Given the description of an element on the screen output the (x, y) to click on. 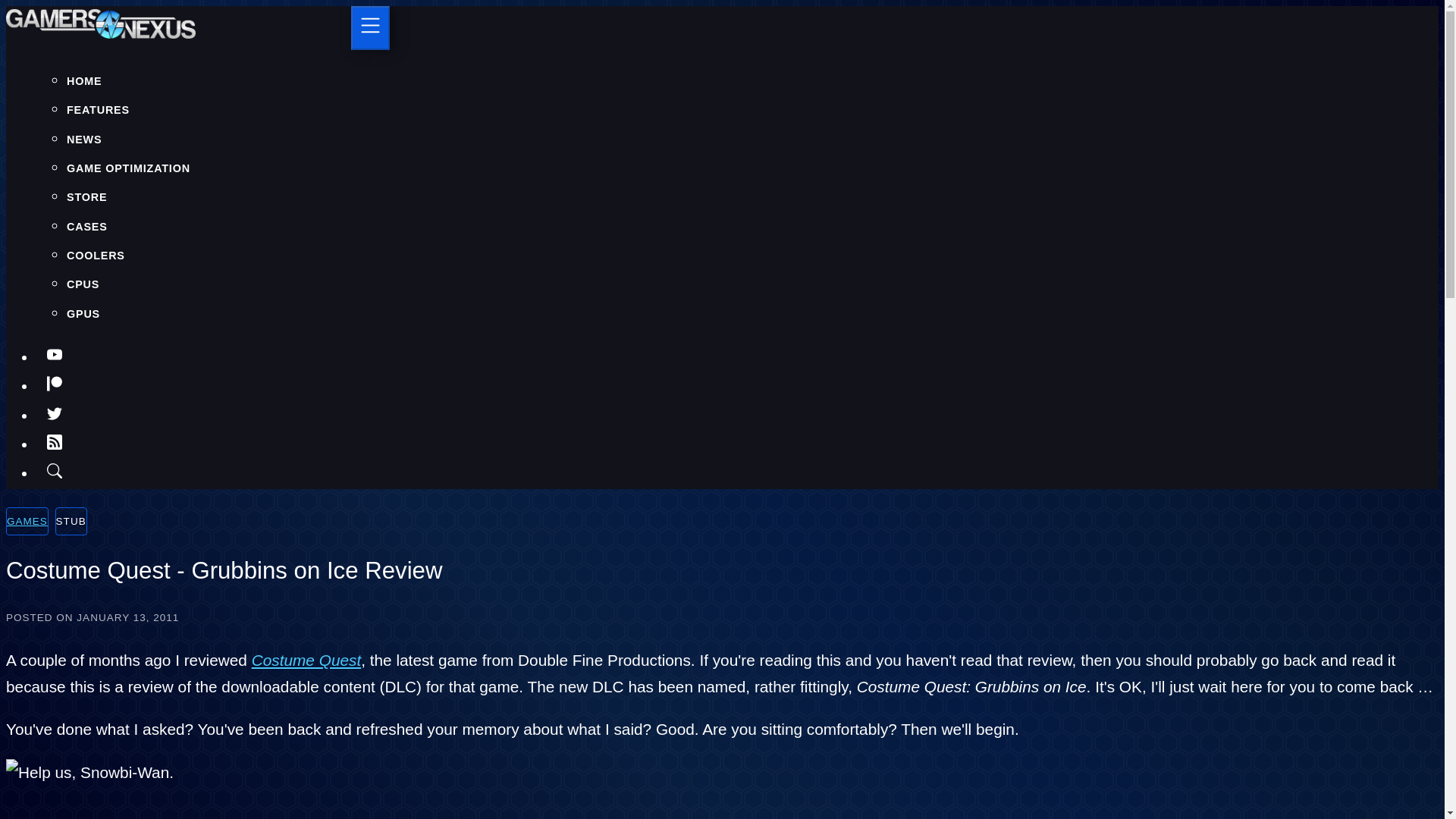
COOLERS (95, 255)
HOME (83, 80)
CASES (86, 226)
Help us, Snowbi-Wan. (89, 771)
CPUS (82, 284)
NEWS (83, 139)
GPUS (83, 313)
Costume Quest (306, 660)
FEATURES (97, 110)
Skip to main content (722, 7)
